Given the description of an element on the screen output the (x, y) to click on. 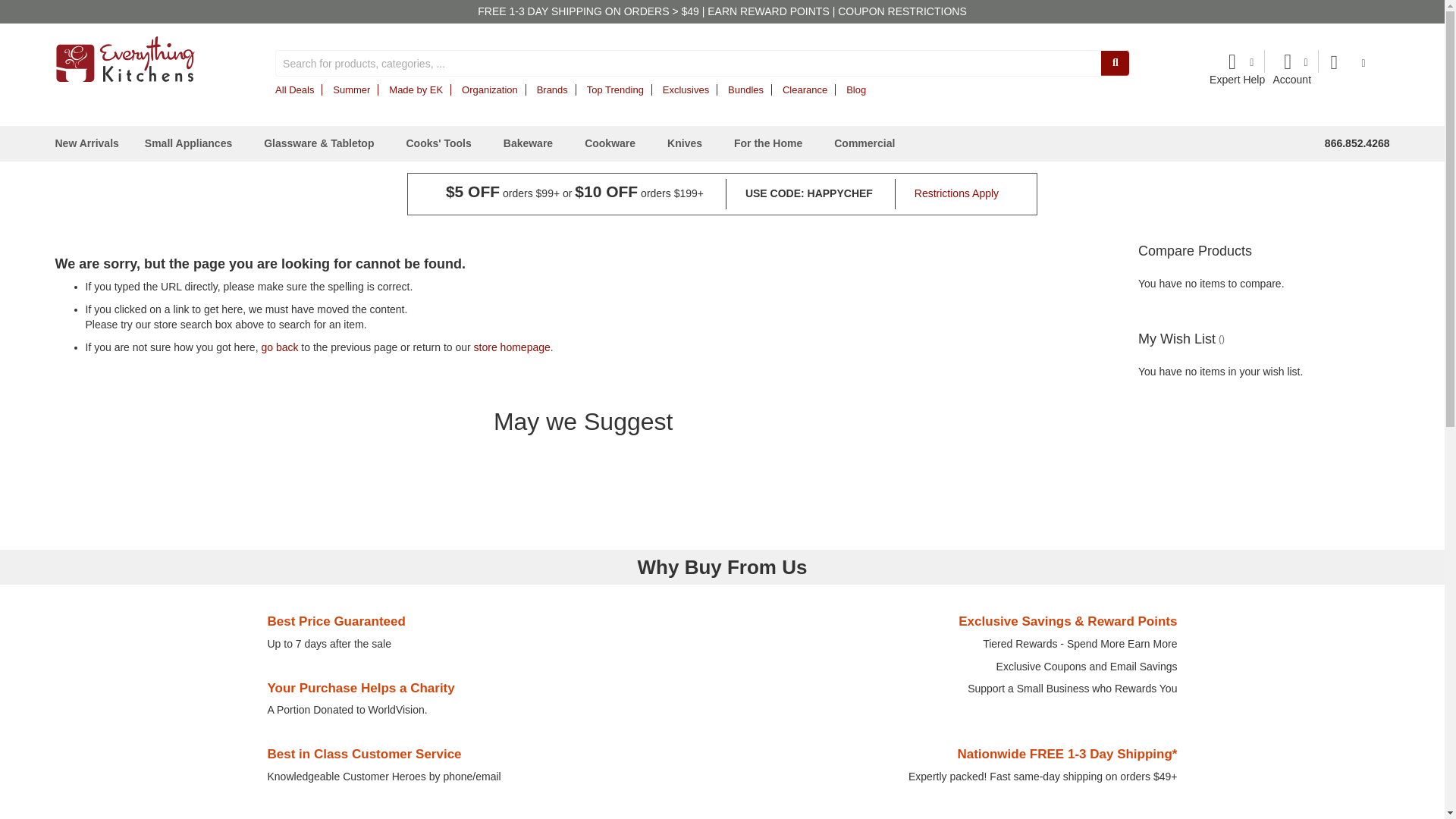
Blog (855, 89)
Clearance (805, 89)
Go to the Everything Kitchens homepage (125, 58)
Search (1114, 62)
Small Appliances (191, 143)
Exclusives (685, 89)
Brands (552, 89)
Shipping Policy (590, 10)
Made by EK (415, 89)
Top Trending (614, 89)
